Given the description of an element on the screen output the (x, y) to click on. 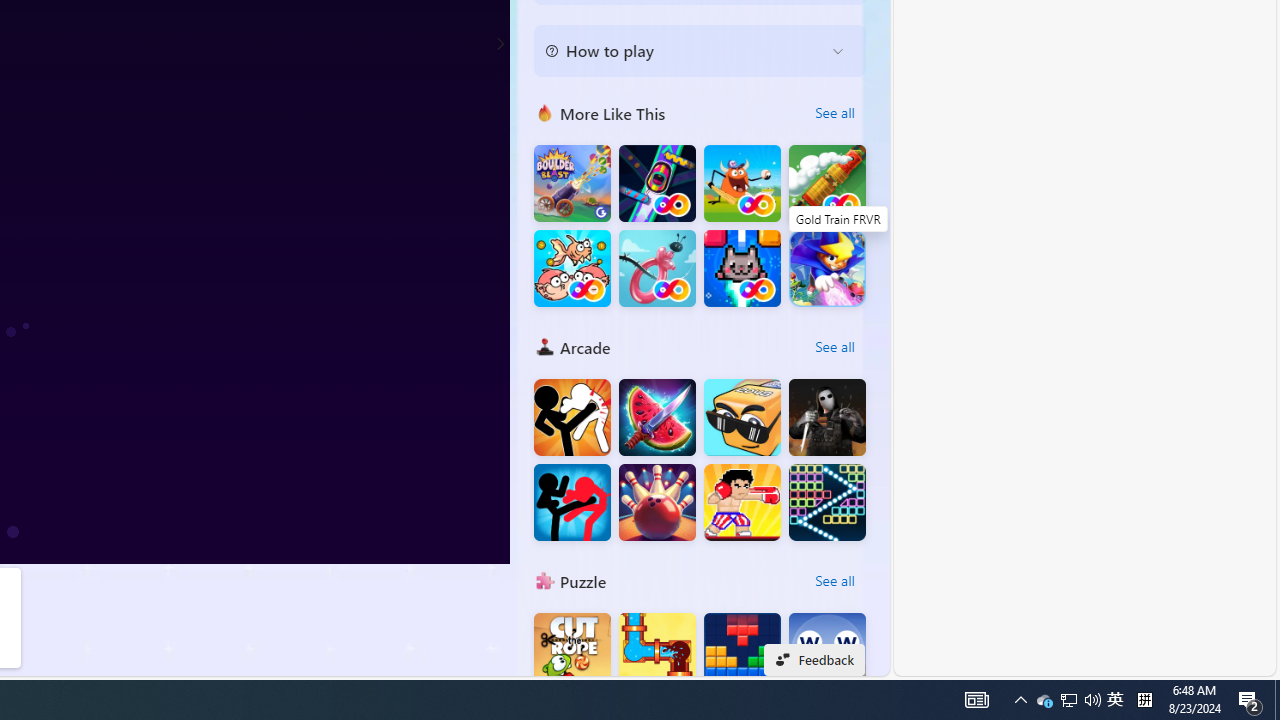
Super Bowling Mania (657, 502)
Stickman Fighter : Mega Brawl (571, 417)
Monster Bash FRVR (742, 183)
Kitten Force FRVR (742, 268)
See all (834, 580)
Hunter Hitman (827, 417)
Arcade (544, 346)
Puzzle (544, 580)
See all (834, 580)
BlockBuster: Adventures Puzzle (742, 651)
How to play (683, 50)
Fish Merge FRVR (571, 268)
Bumper Car FRVR (657, 183)
